Given the description of an element on the screen output the (x, y) to click on. 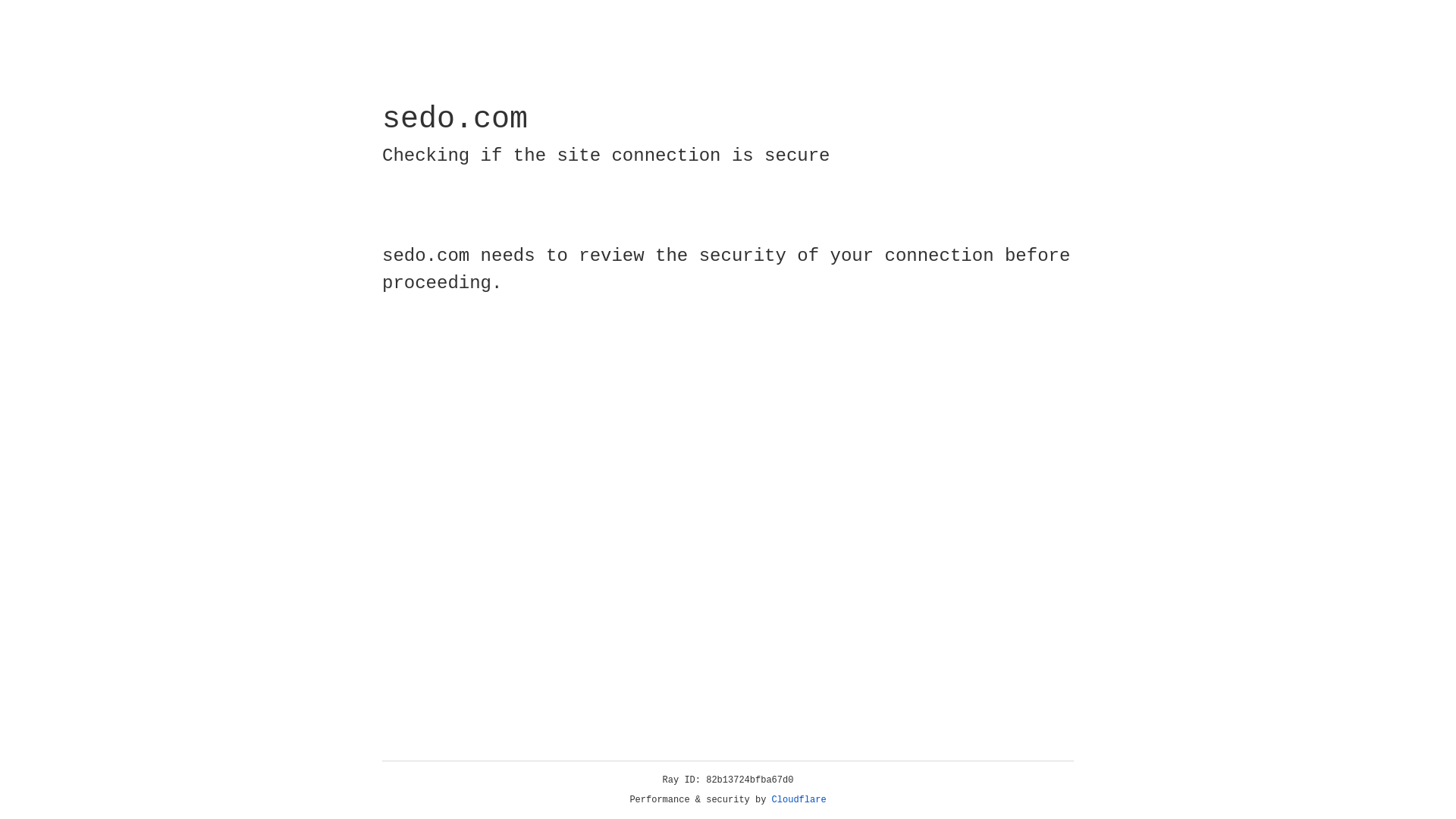
Cloudflare Element type: text (798, 799)
